Given the description of an element on the screen output the (x, y) to click on. 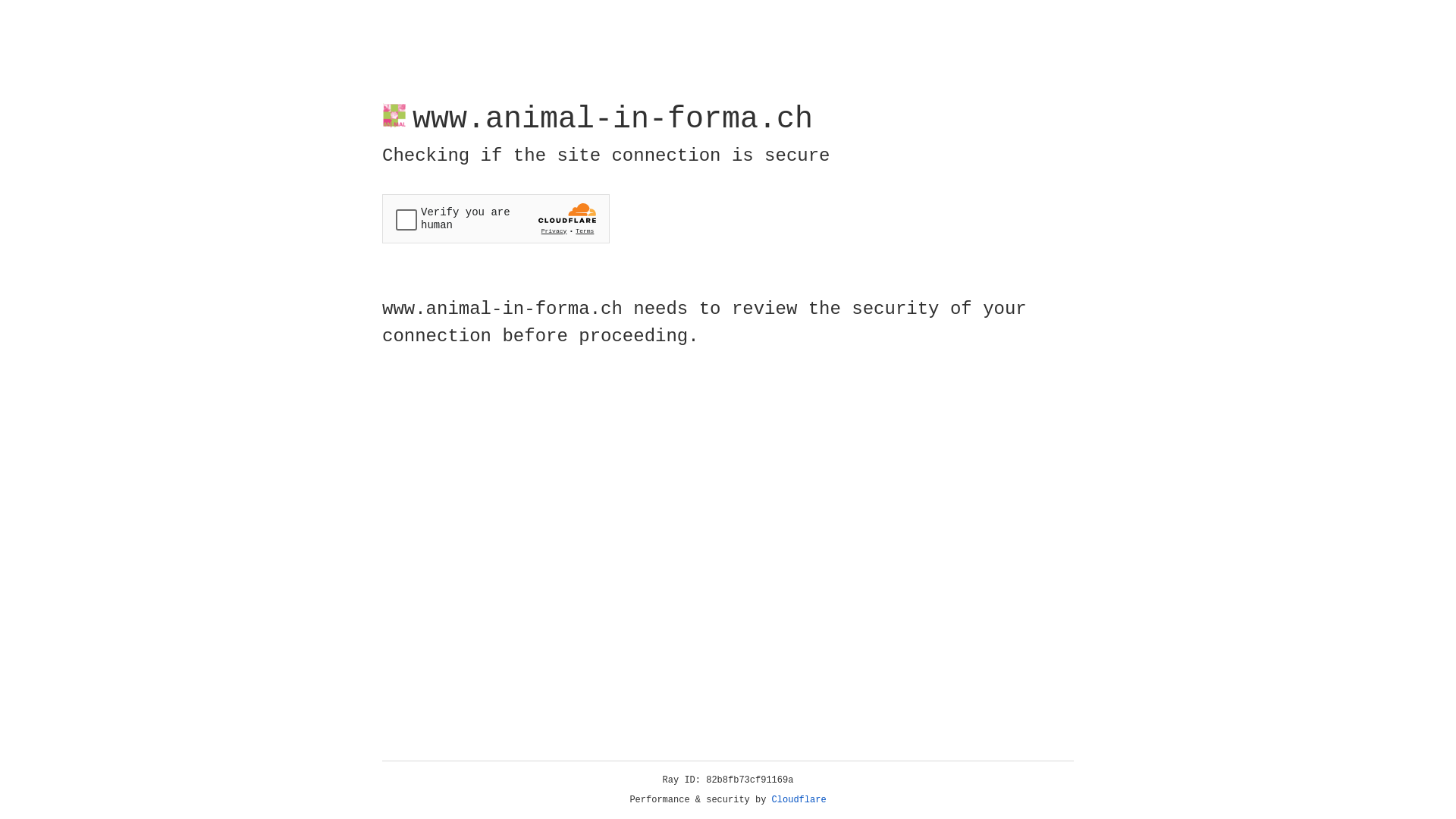
Cloudflare Element type: text (798, 799)
Widget containing a Cloudflare security challenge Element type: hover (495, 218)
